Given the description of an element on the screen output the (x, y) to click on. 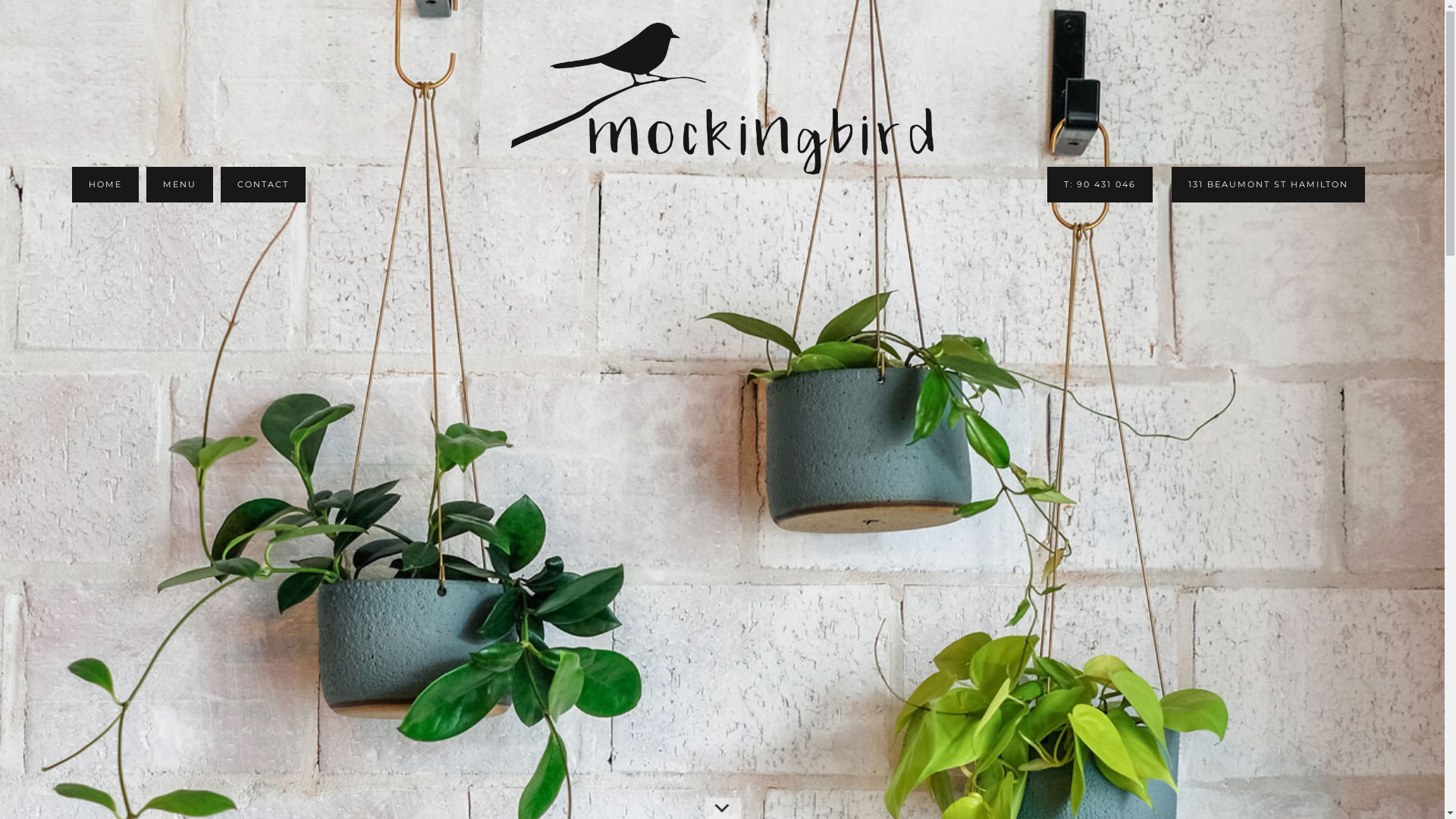
CONTACT Element type: text (262, 184)
131 BEAUMONT ST HAMILTON Element type: text (1268, 184)
HOME Element type: text (105, 184)
T: 90 431 046 Element type: text (1099, 184)
MOCKINGBIRD CAFE NEWCASTLE Element type: text (722, 98)
MENU Element type: text (179, 184)
